Given the description of an element on the screen output the (x, y) to click on. 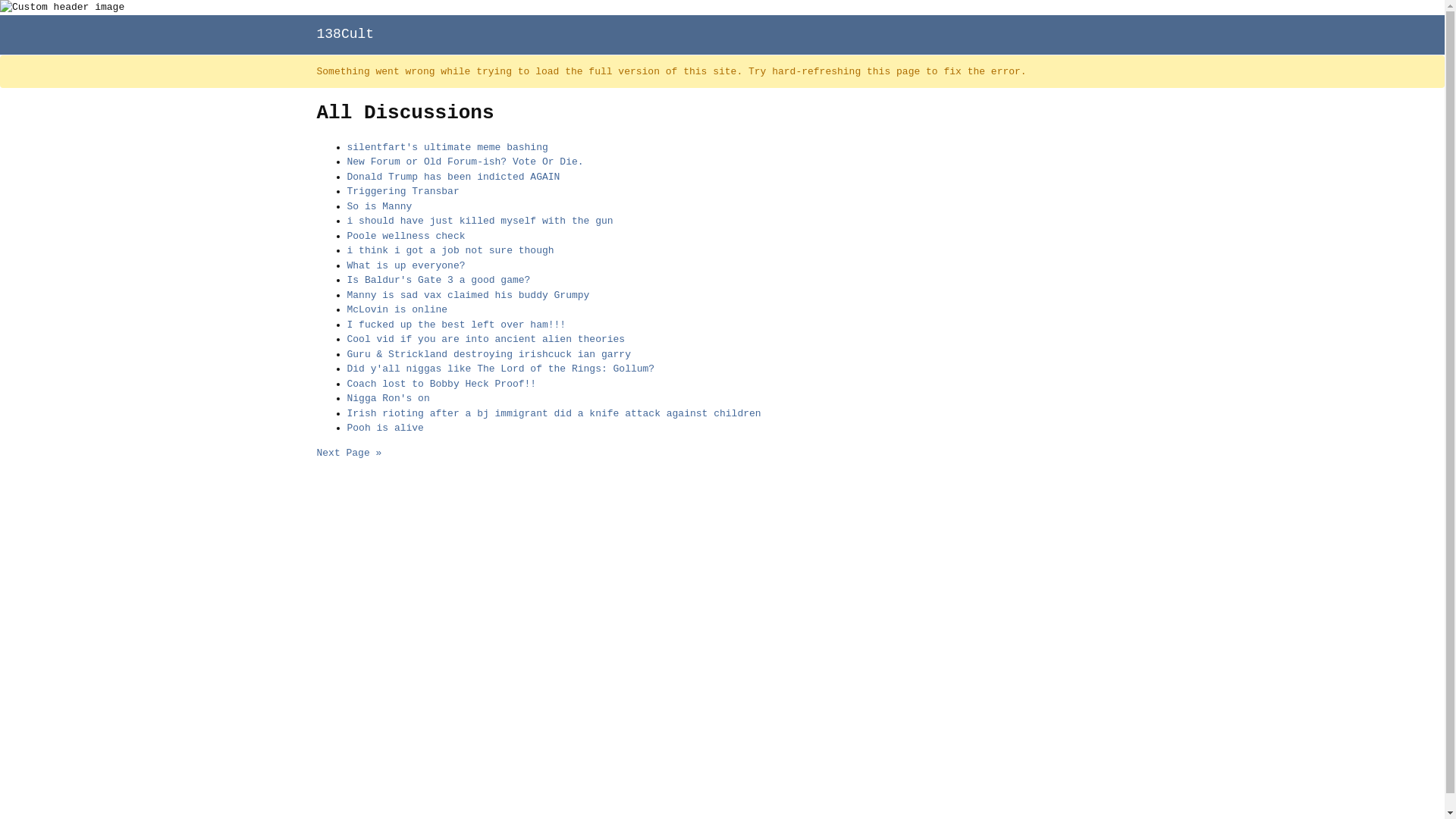
So is Manny Element type: text (379, 206)
Nigga Ron's on Element type: text (388, 398)
i think i got a job not sure though Element type: text (450, 250)
Guru & Strickland destroying irishcuck ian garry Element type: text (488, 354)
McLovin is online Element type: text (397, 309)
New Forum or Old Forum-ish? Vote Or Die. Element type: text (465, 161)
138Cult Element type: text (345, 32)
Pooh is alive Element type: text (385, 427)
Manny is sad vax claimed his buddy Grumpy Element type: text (468, 295)
i should have just killed myself with the gun Element type: text (480, 220)
I fucked up the best left over ham!!! Element type: text (456, 324)
Donald Trump has been indicted AGAIN Element type: text (453, 176)
What is up everyone? Element type: text (406, 265)
silentfart's ultimate meme bashing Element type: text (447, 147)
Poole wellness check Element type: text (406, 235)
Triggering Transbar Element type: text (403, 191)
Did y'all niggas like The Lord of the Rings: Gollum? Element type: text (501, 368)
Cool vid if you are into ancient alien theories Element type: text (486, 339)
Coach lost to Bobby Heck Proof!! Element type: text (441, 383)
Is Baldur's Gate 3 a good game? Element type: text (438, 279)
